Given the description of an element on the screen output the (x, y) to click on. 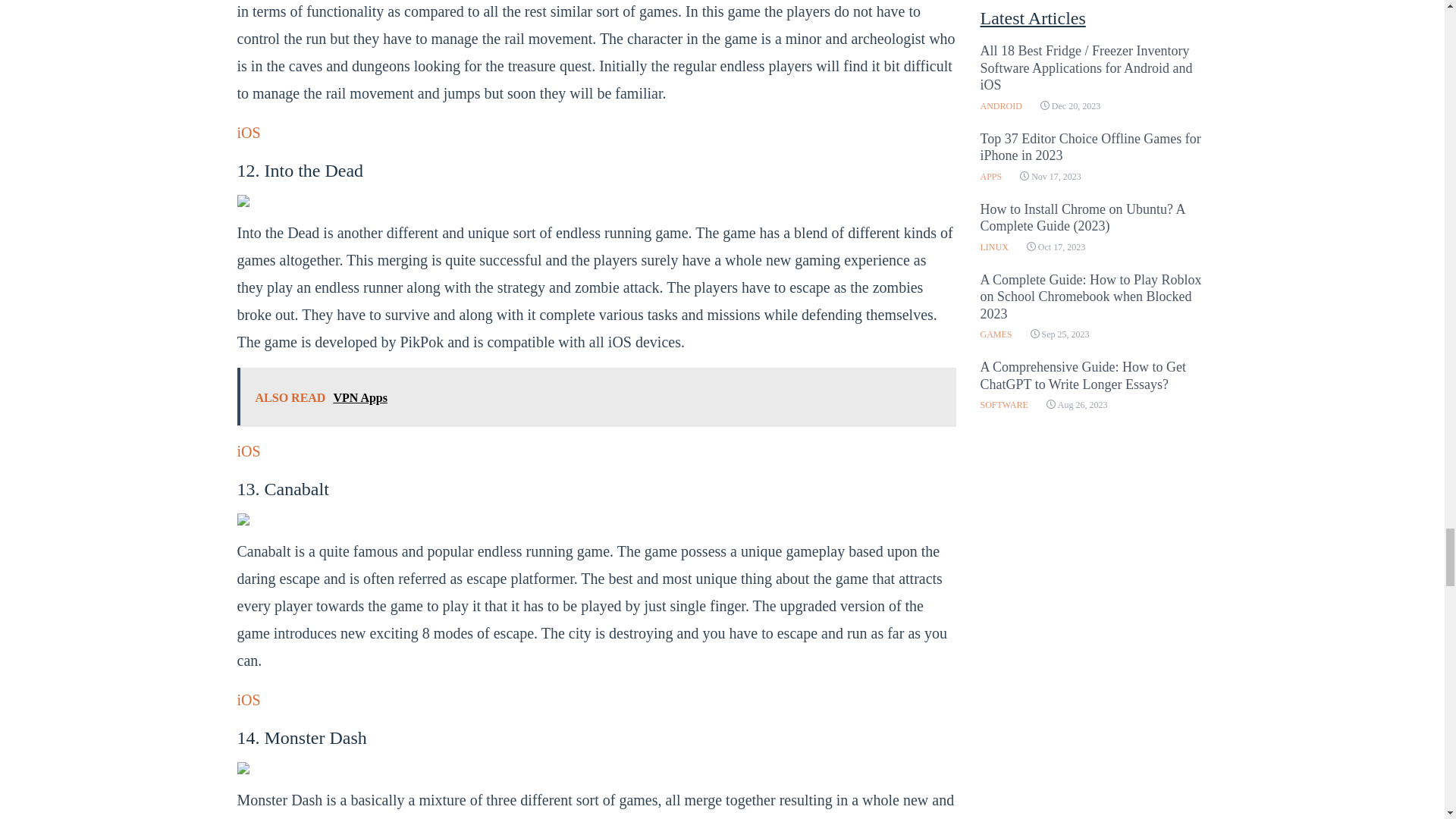
iOS (247, 699)
iOS (247, 451)
iOS (247, 132)
ALSO READ  VPN Apps (595, 396)
